Given the description of an element on the screen output the (x, y) to click on. 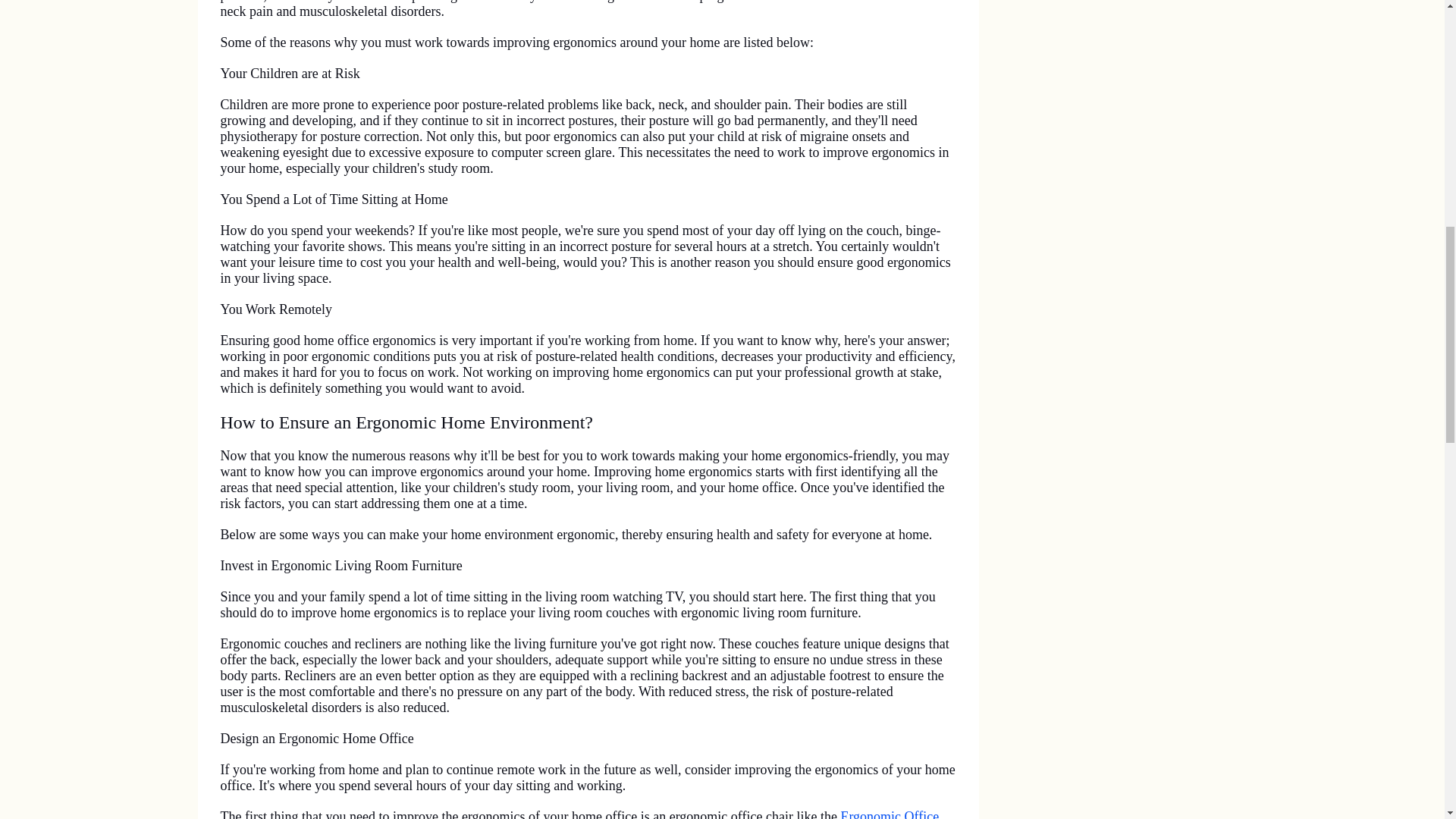
Ergonomic Office Chair BS2 (579, 814)
